Given the description of an element on the screen output the (x, y) to click on. 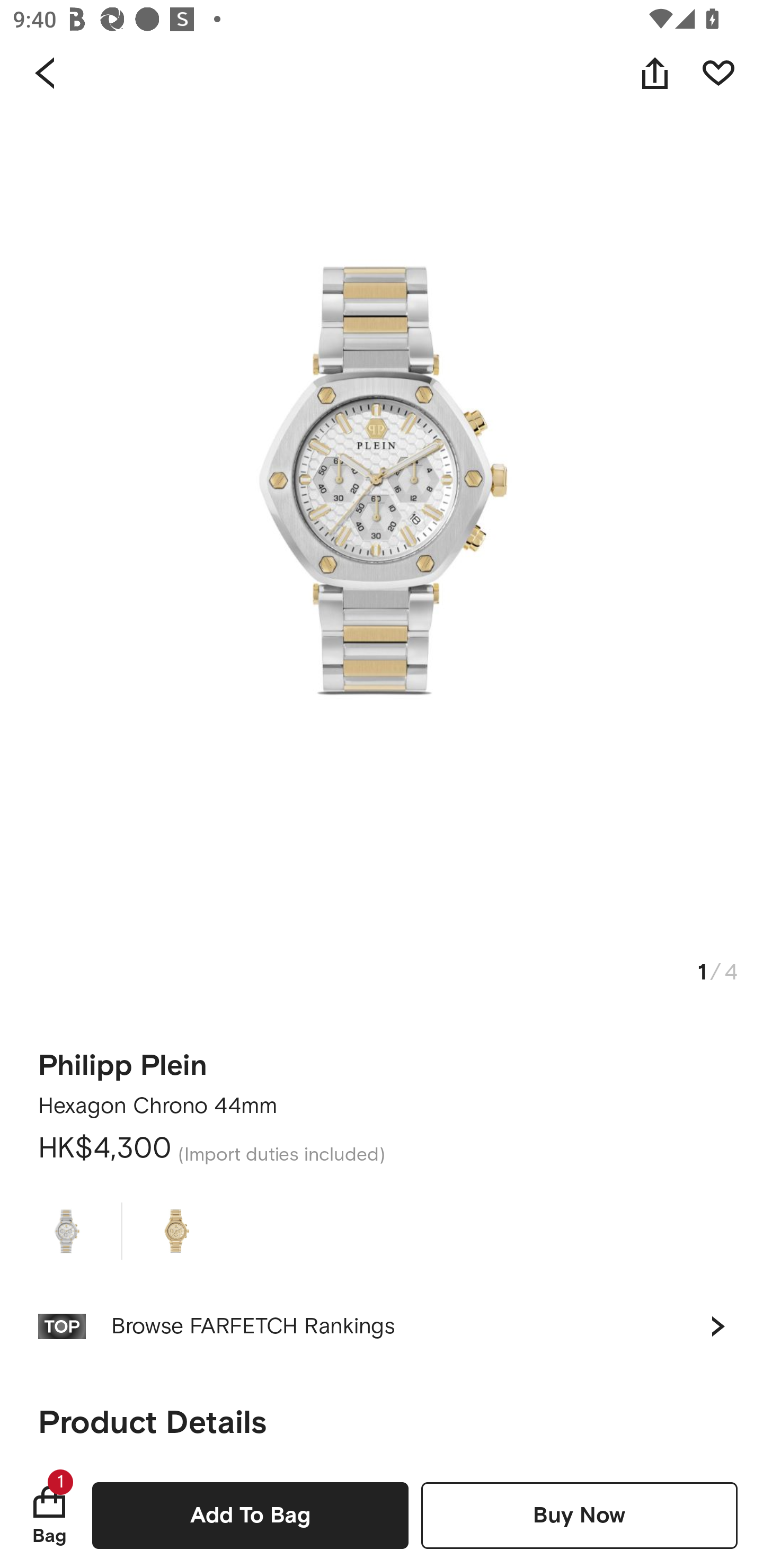
Philipp Plein (122, 1059)
Browse FARFETCH Rankings (381, 1326)
Bag 1 (49, 1515)
Add To Bag (250, 1515)
Buy Now (579, 1515)
